Given the description of an element on the screen output the (x, y) to click on. 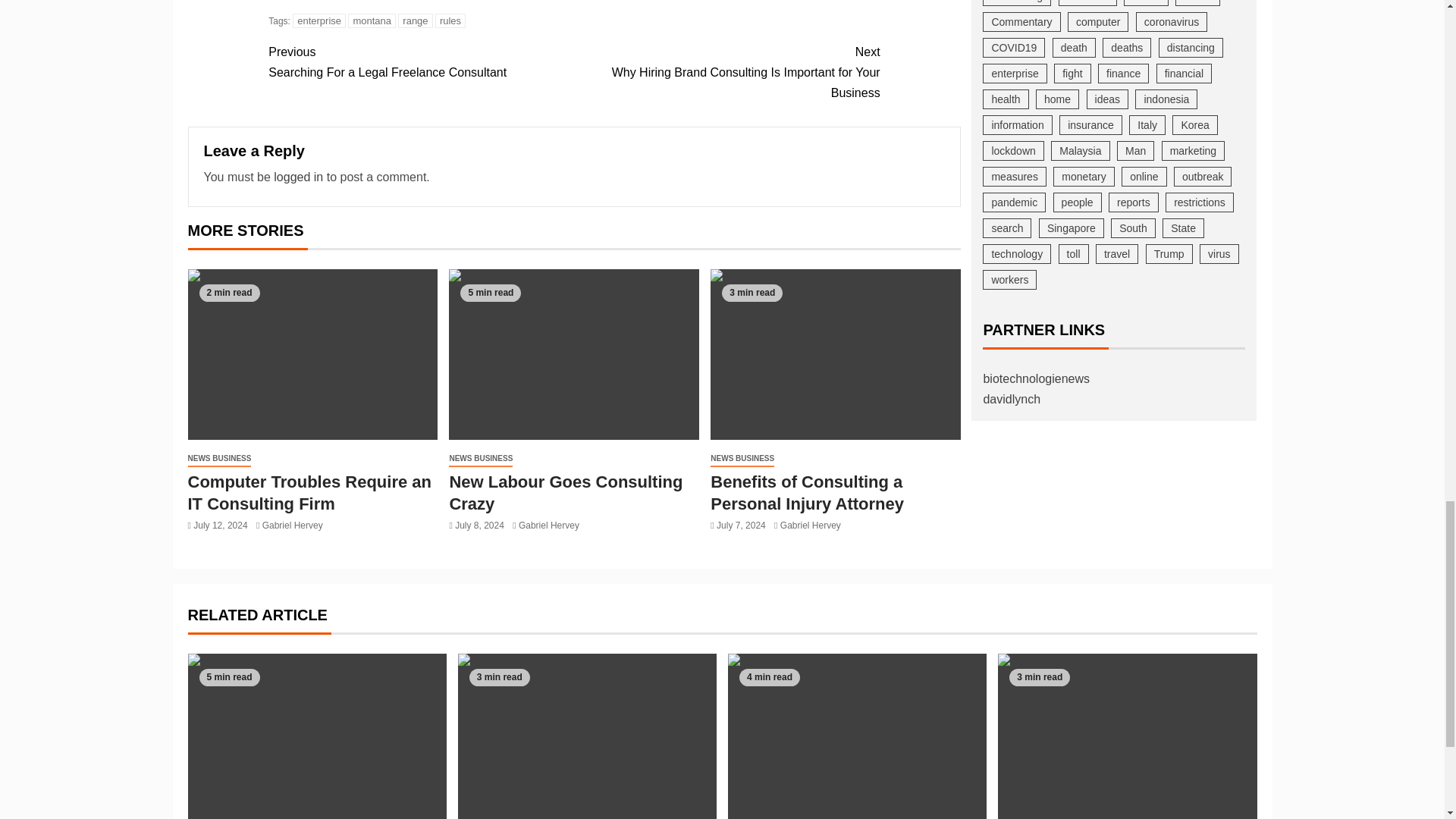
montana (371, 20)
NEWS BUSINESS (420, 61)
Computer Troubles Require an IT Consulting Firm (219, 458)
Gabriel Hervey (309, 492)
rules (292, 525)
New Labour Goes Consulting Crazy (450, 20)
enterprise (573, 354)
logged in (319, 20)
